Given the description of an element on the screen output the (x, y) to click on. 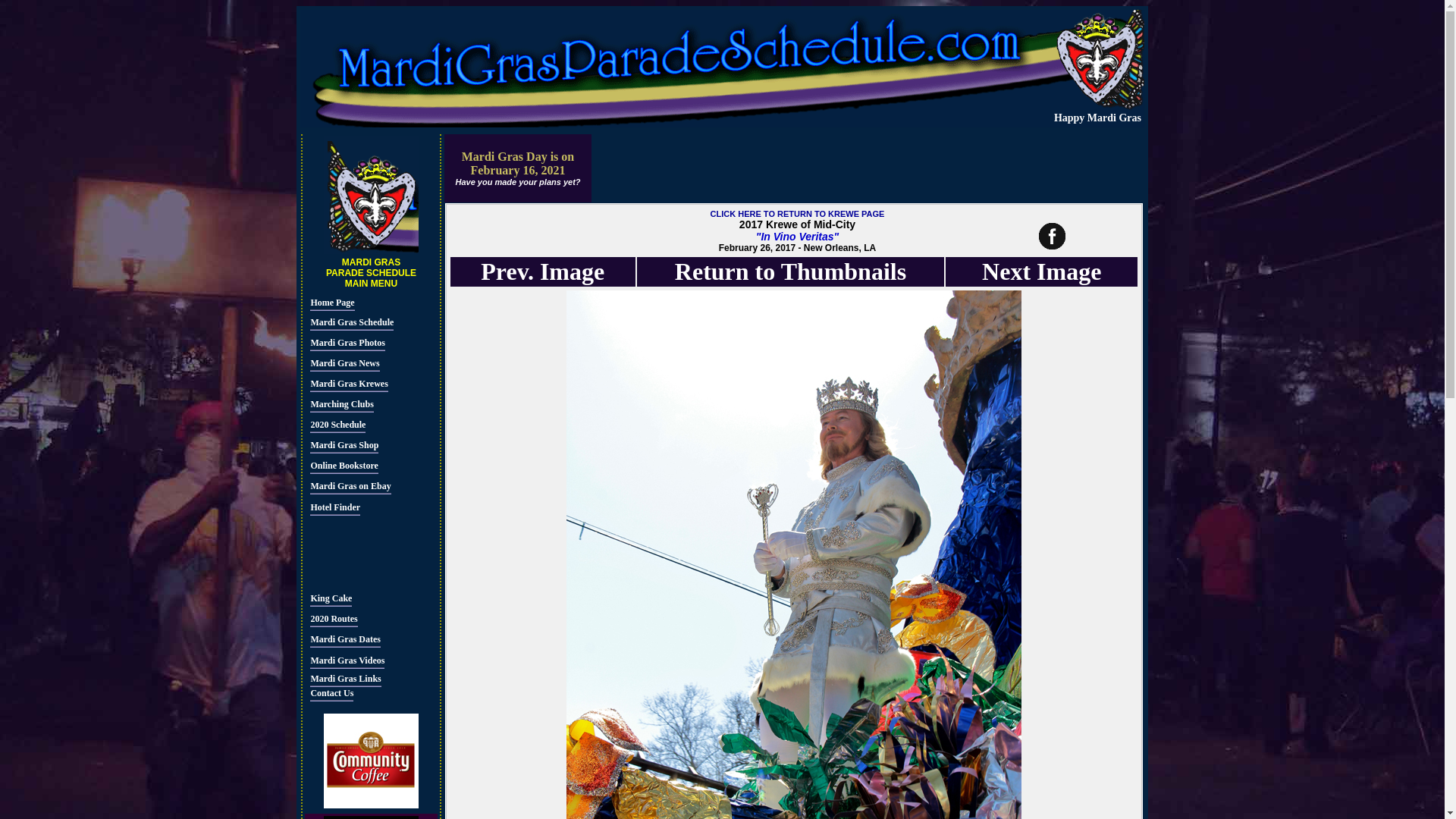
Contact Us (331, 694)
Online Bookstore (343, 466)
Next Image (1040, 271)
Advertisement (866, 168)
Mardi Gras Links (345, 680)
King Cake (331, 599)
Advertisement (355, 552)
Mardi Gras News (344, 364)
Home Page (331, 304)
Have you made your plans yet? (516, 187)
Mardi Gras Videos (347, 662)
Mardi Gras Schedule (351, 323)
2020 Routes (333, 620)
Prev. Image (542, 271)
Marching Clubs (341, 405)
